Given the description of an element on the screen output the (x, y) to click on. 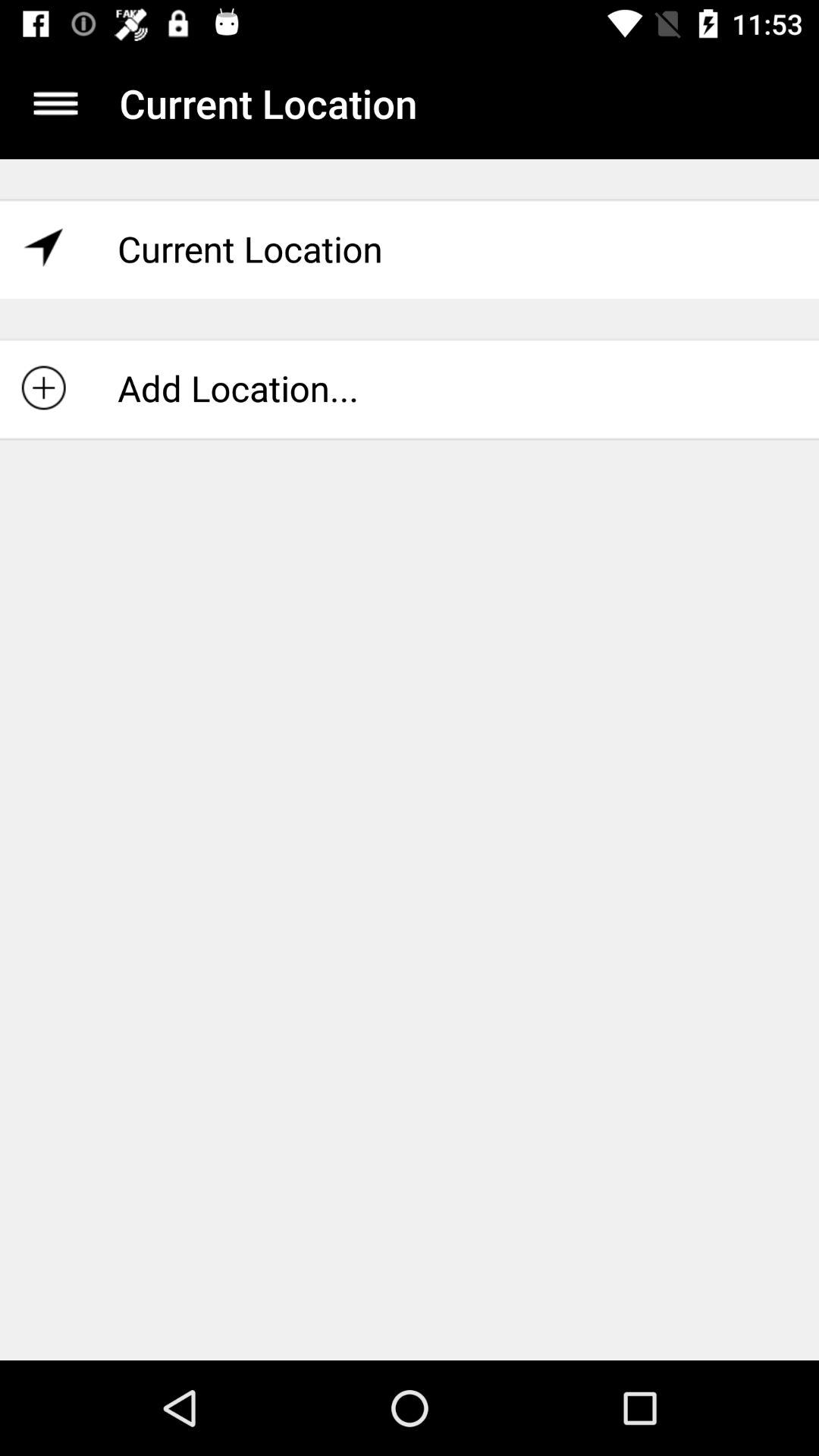
open main menu (55, 103)
